Given the description of an element on the screen output the (x, y) to click on. 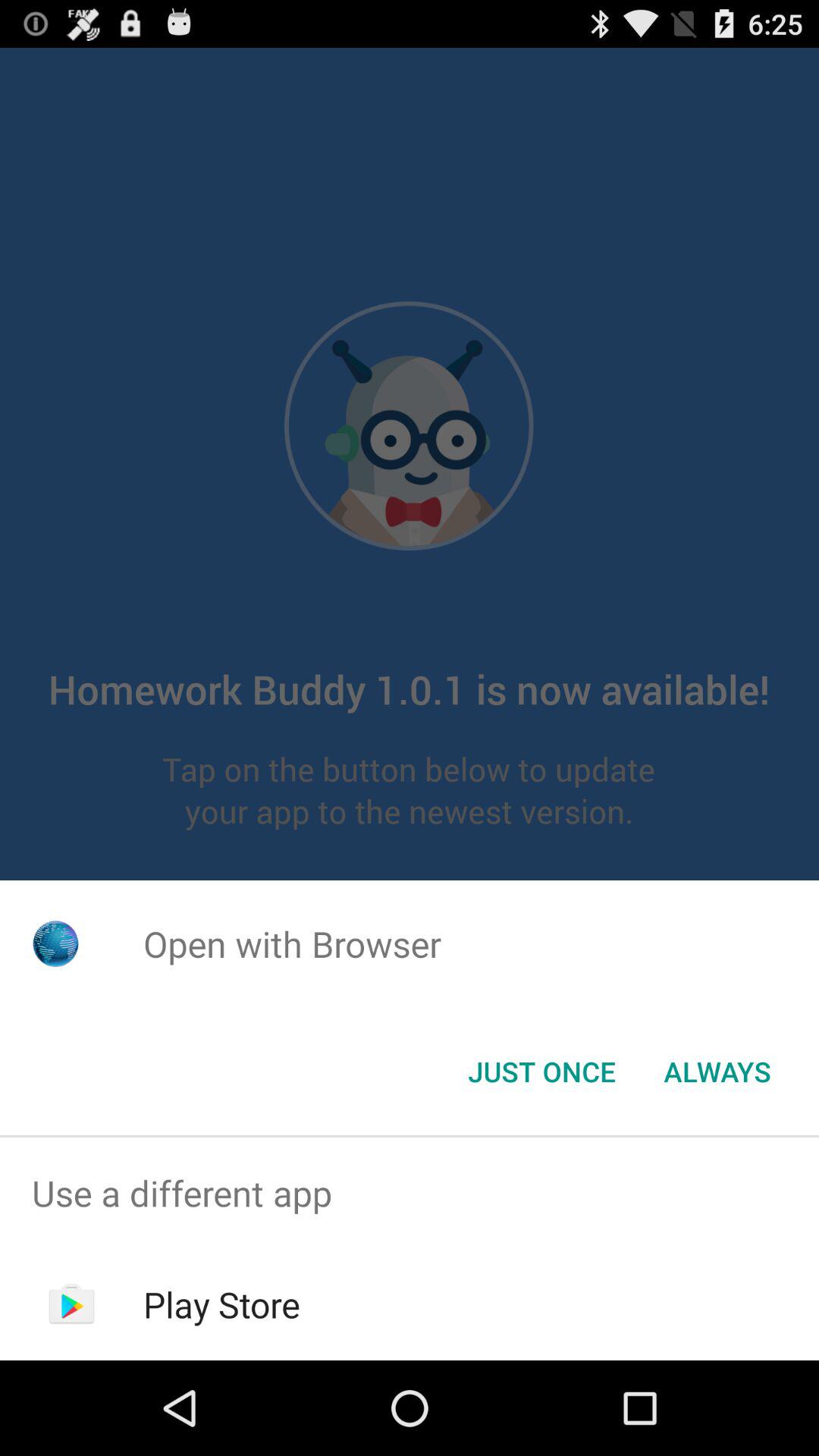
tap button next to just once (717, 1071)
